Given the description of an element on the screen output the (x, y) to click on. 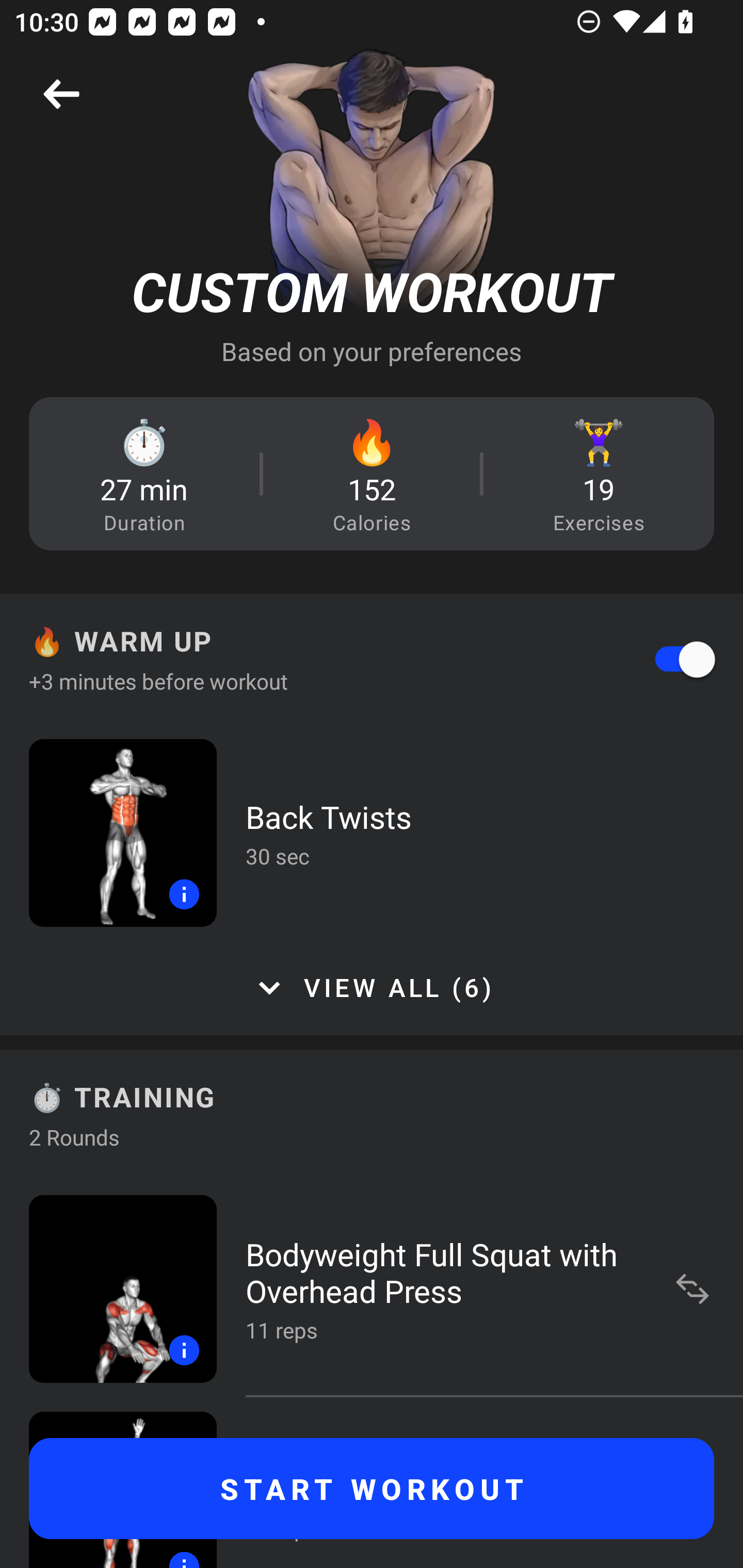
Back Twists 30 sec (371, 832)
VIEW ALL (6) (371, 987)
Bodyweight Full Squat with Overhead Press 11 reps (371, 1288)
START WORKOUT (371, 1488)
